Given the description of an element on the screen output the (x, y) to click on. 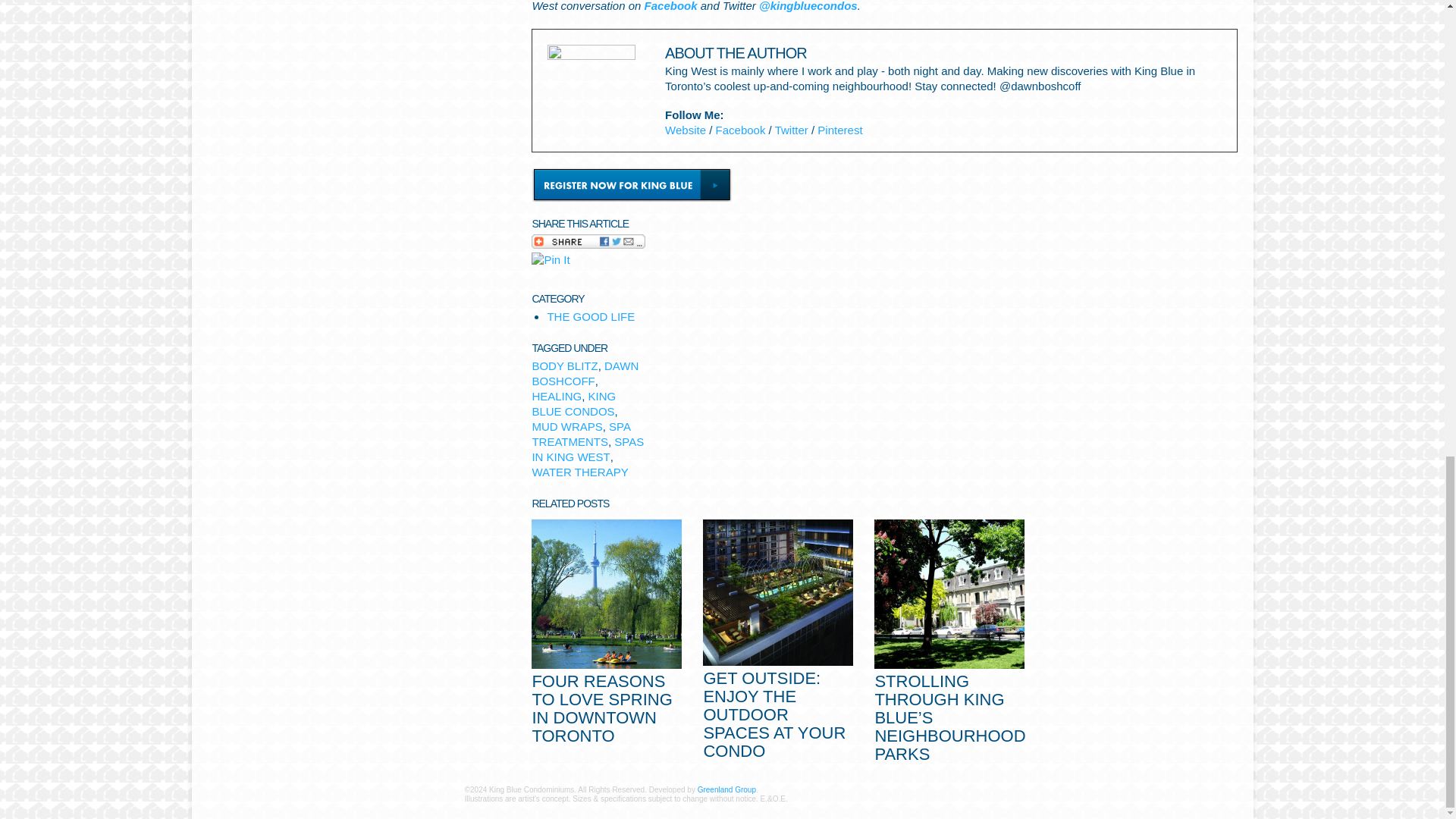
Pinterest (838, 128)
Pin It (550, 259)
Facebook (671, 5)
Register for King Blue Condominiums (631, 183)
Facebook (740, 128)
Website (685, 128)
Greenland Group (726, 789)
Twitter (791, 128)
